Given the description of an element on the screen output the (x, y) to click on. 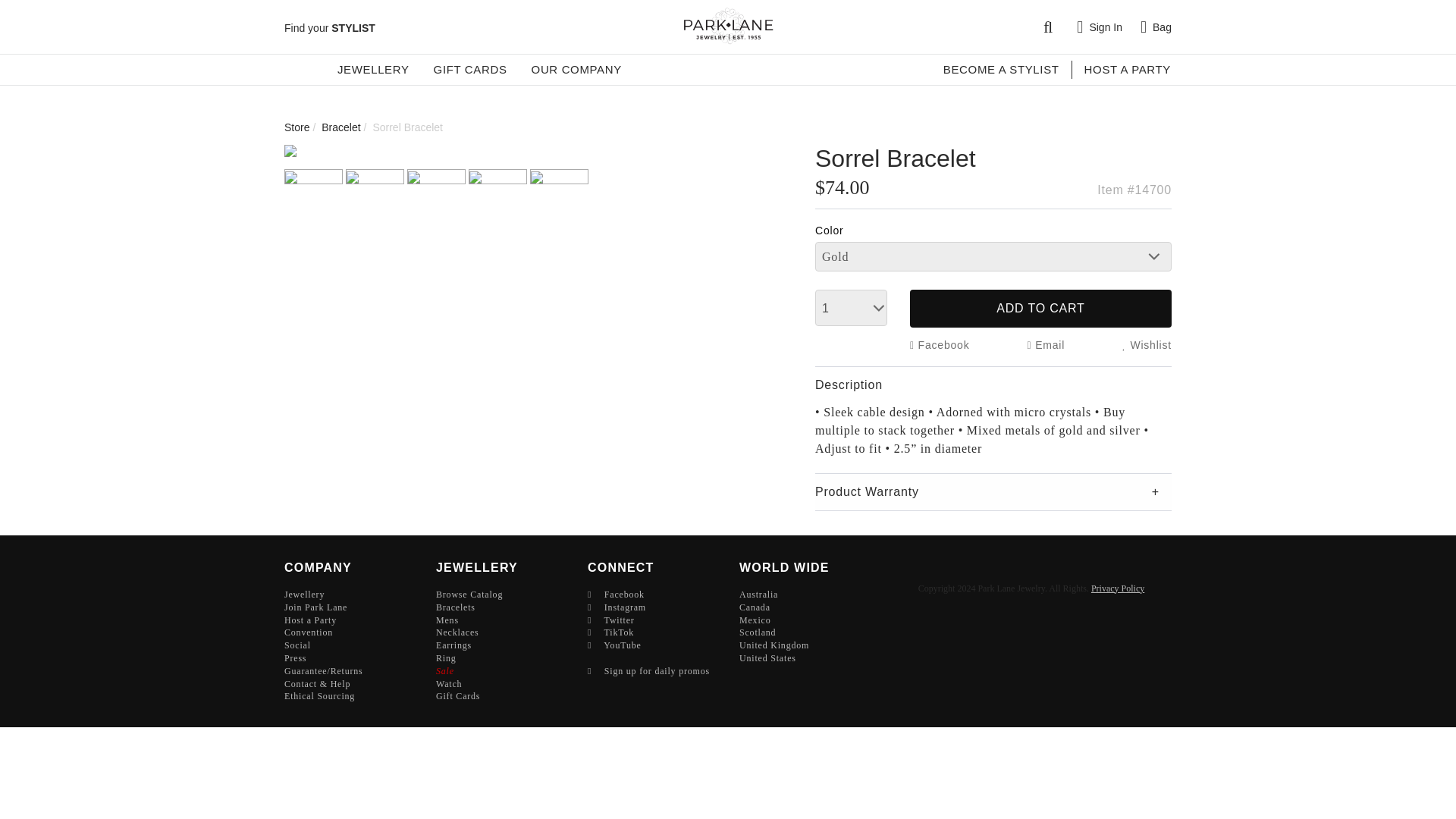
Find your STYLIST (329, 28)
Sign In (1099, 27)
JEWELLERY (373, 69)
Bag (1156, 27)
Jewelry (373, 69)
About Park Lane (576, 69)
NEW (298, 69)
